Given the description of an element on the screen output the (x, y) to click on. 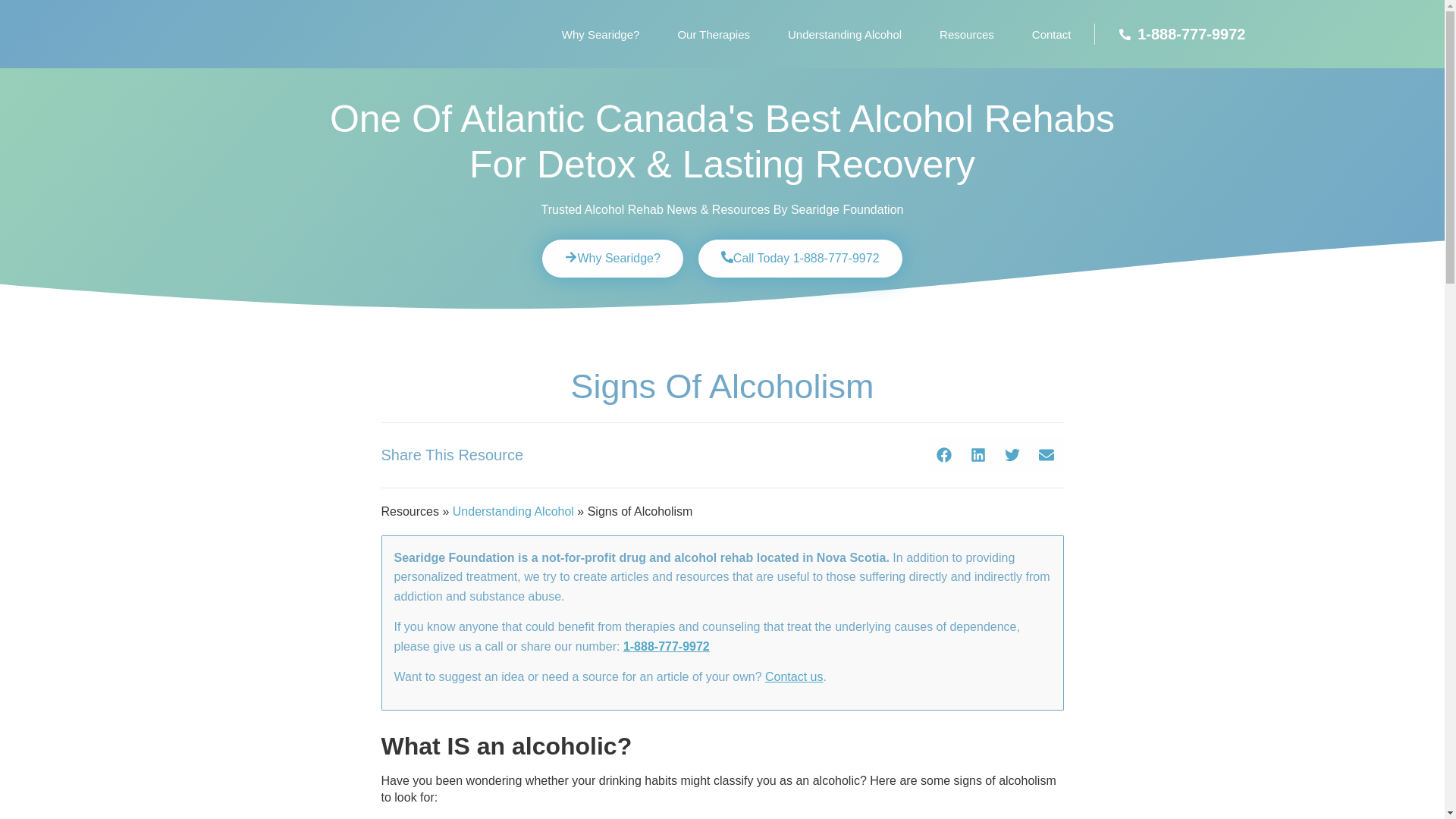
Why Searidge? (601, 34)
Understanding Alcohol (512, 511)
Understanding Alcohol (512, 511)
Resources (966, 34)
Contact us (793, 676)
Call Today 1-888-777-9972 (800, 258)
Contact (1051, 34)
Our Therapies (713, 34)
1-888-777-9972 (1170, 34)
Understanding Alcohol (844, 34)
1-888-777-9972 (666, 645)
Why Searidge? (611, 258)
